Given the description of an element on the screen output the (x, y) to click on. 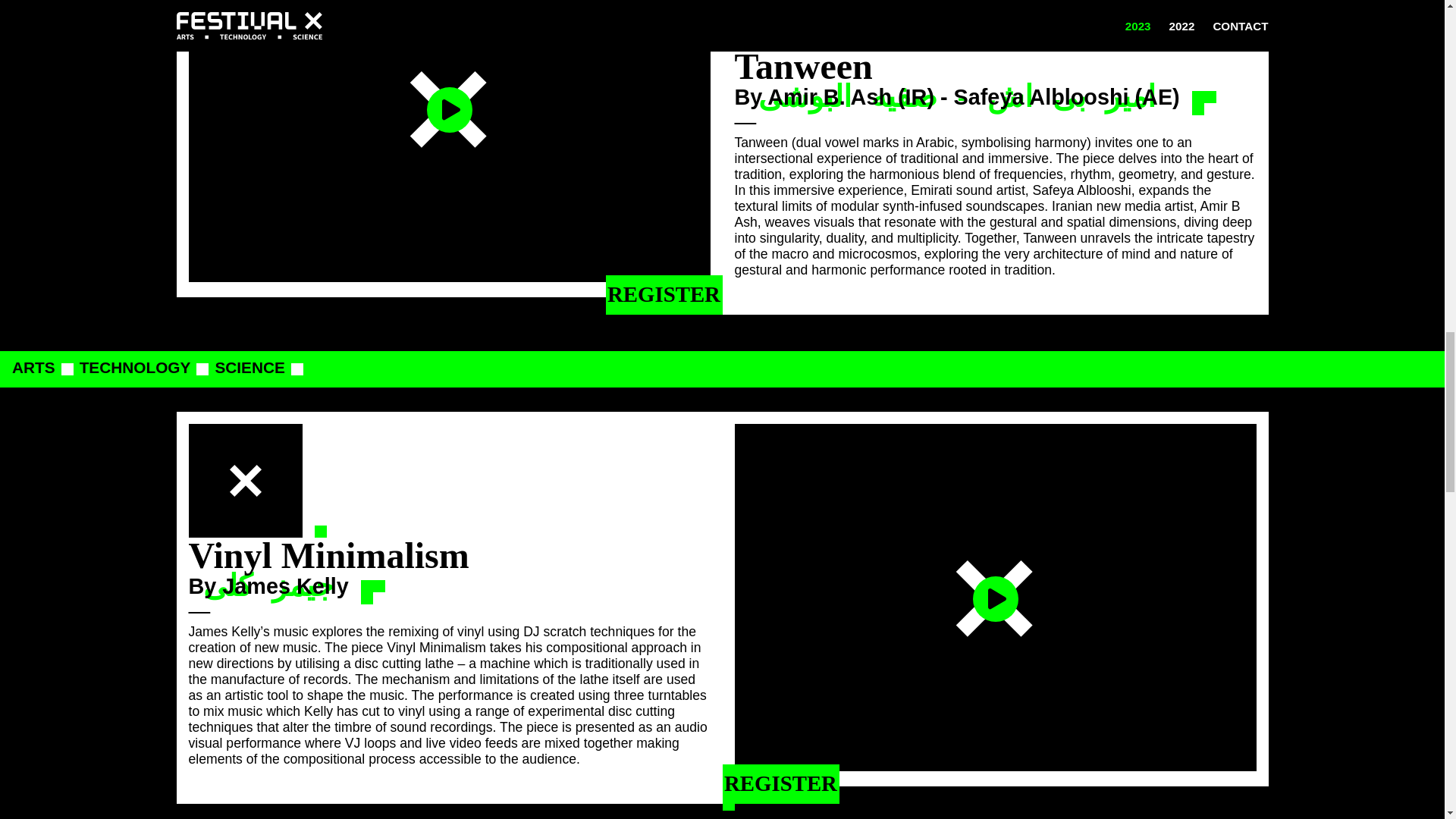
REGISTER (780, 783)
REGISTER (663, 294)
